Given the description of an element on the screen output the (x, y) to click on. 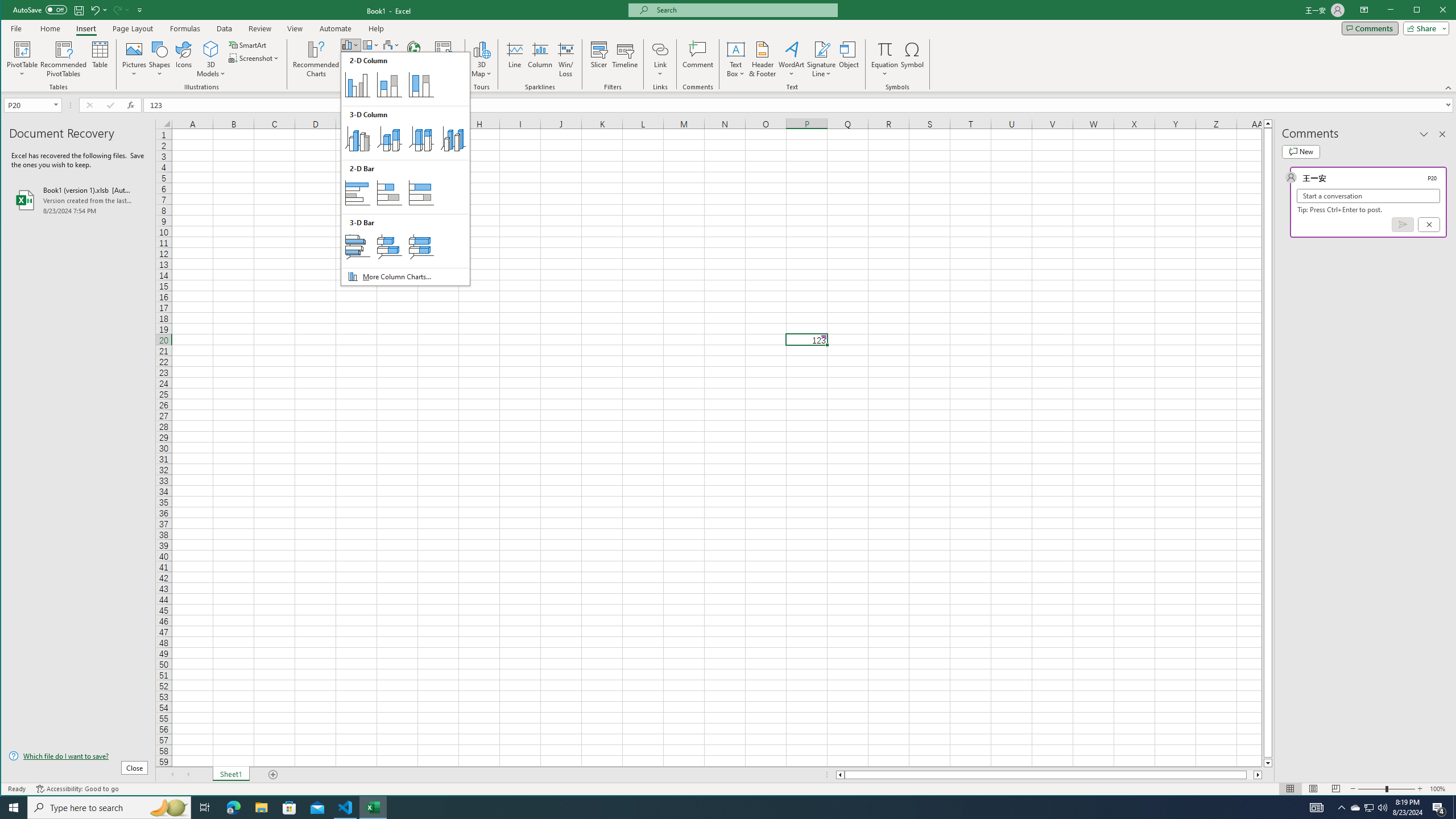
Save (79, 9)
Text Box (735, 59)
Column (540, 59)
Signature Line (821, 48)
WordArt (791, 59)
Pictures (134, 59)
3D Models (211, 48)
Collapse the Ribbon (1448, 87)
Formulas (184, 28)
Share (1423, 27)
Page Layout (132, 28)
Signature Line (821, 59)
PivotTable (22, 59)
Column left (839, 774)
